Given the description of an element on the screen output the (x, y) to click on. 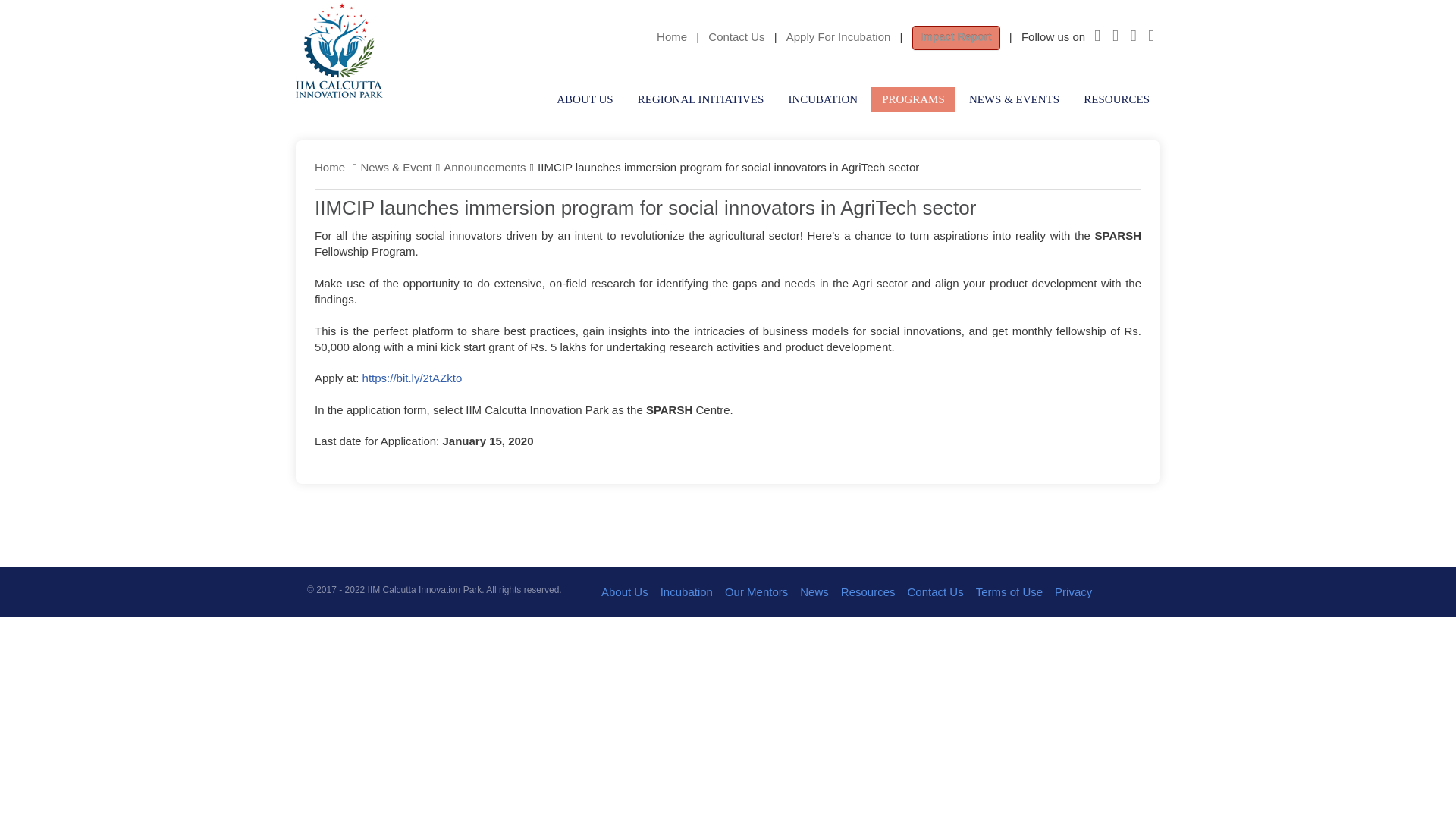
ABOUT US (584, 99)
Home (671, 36)
Apply For Incubation (838, 36)
Impact Report (955, 36)
Contact Us (735, 36)
REGIONAL INITIATIVES (700, 99)
INCUBATION (822, 99)
IIMCIP (338, 50)
Home (329, 166)
